Given the description of an element on the screen output the (x, y) to click on. 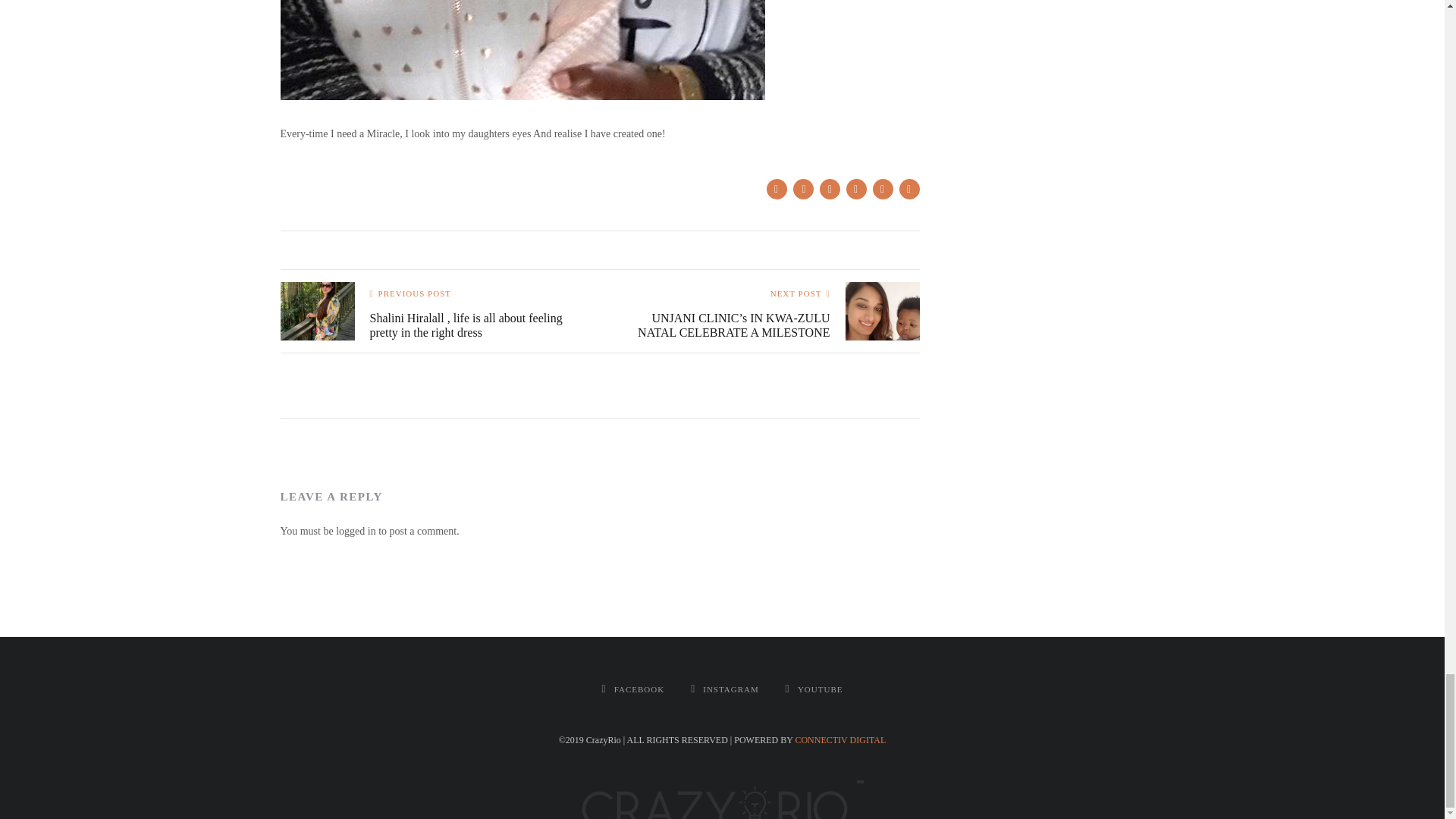
Share to Facebook (775, 189)
Share to Twitter (803, 189)
Share to LinkedIn (882, 189)
Share with Whatsapp (855, 189)
Share to Pinterest (829, 189)
